Given the description of an element on the screen output the (x, y) to click on. 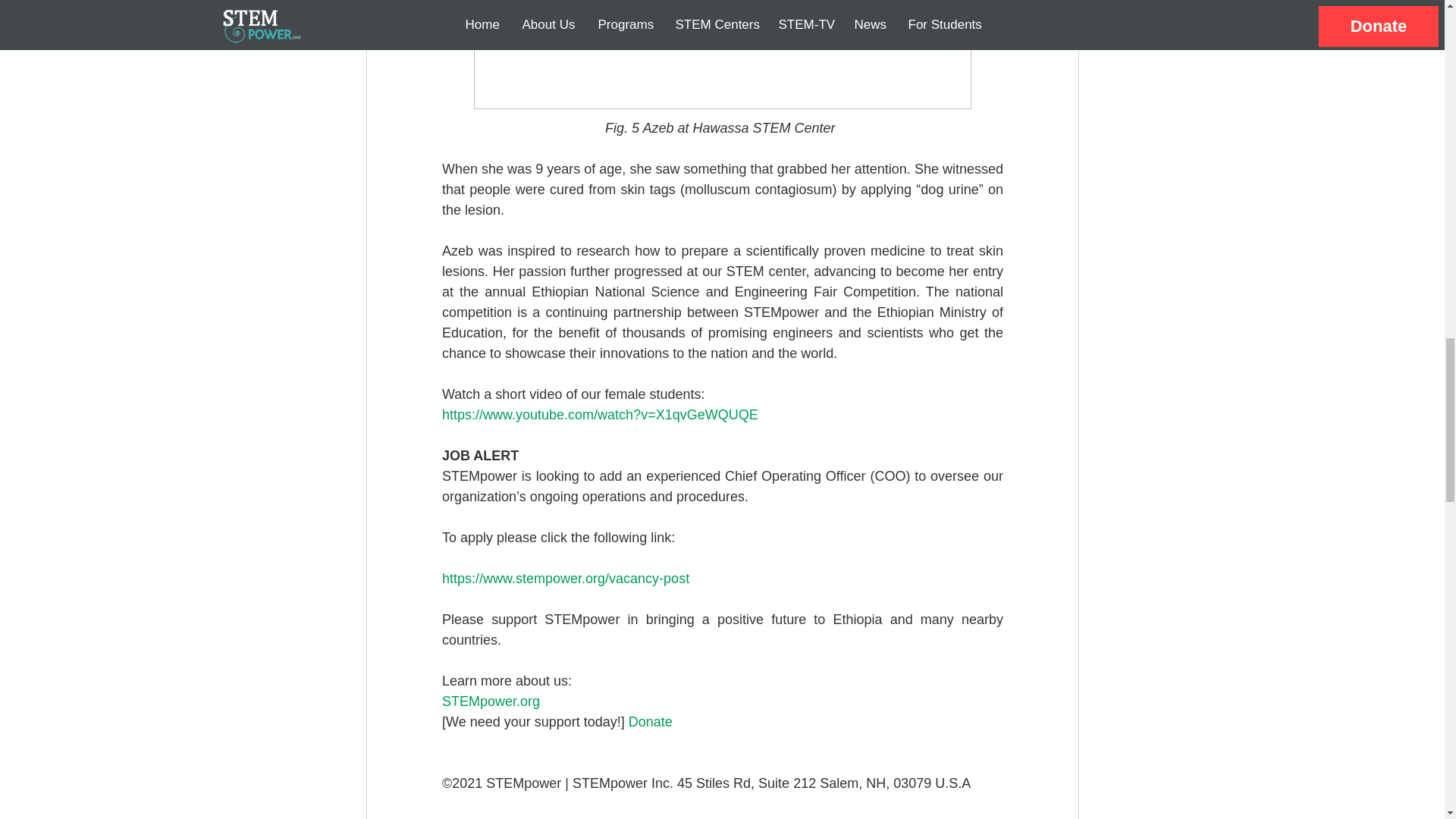
STEMpower.org (489, 701)
Donate (649, 721)
